Given the description of an element on the screen output the (x, y) to click on. 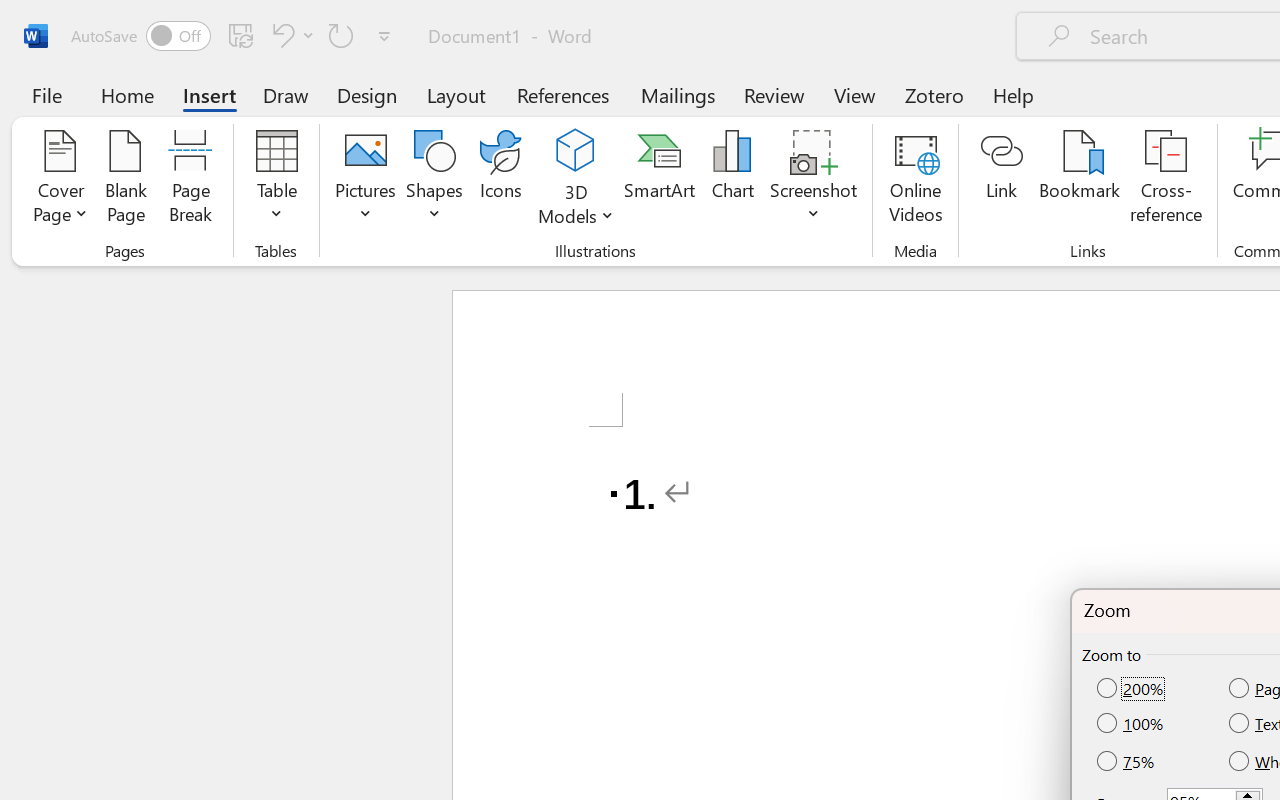
SmartArt... (659, 179)
Link (1001, 179)
3D Models (576, 151)
Bookmark... (1079, 179)
Chart... (732, 179)
Undo Number Default (290, 35)
100% (1131, 723)
Cross-reference... (1165, 179)
